Given the description of an element on the screen output the (x, y) to click on. 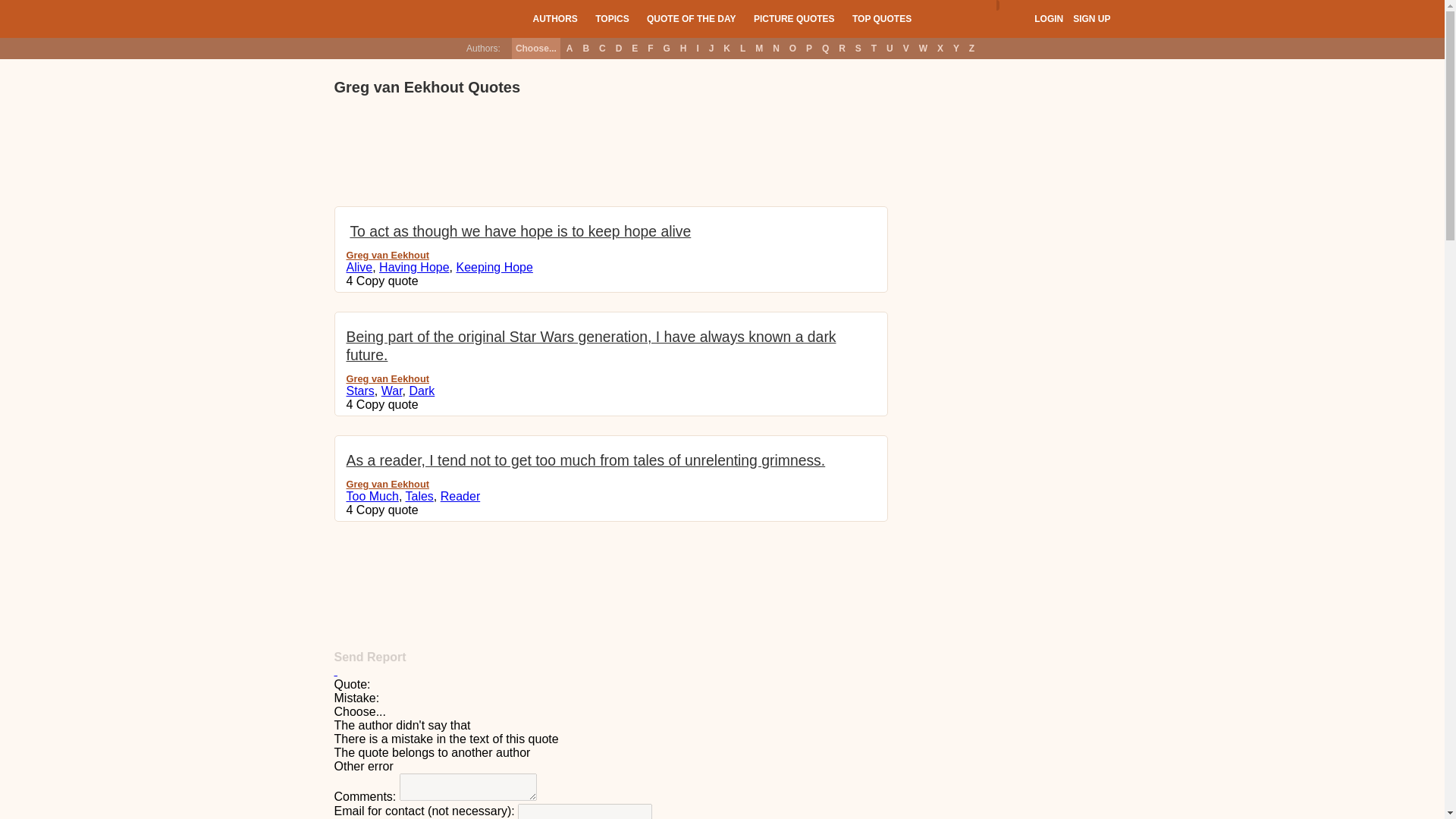
SIGN UP (1091, 18)
D (618, 47)
H (683, 47)
K (726, 47)
B (585, 47)
AUTHORS (554, 18)
A (569, 47)
W (923, 47)
P (808, 47)
F (649, 47)
LOGIN (1047, 18)
PICTURE QUOTES (794, 18)
M (759, 47)
Choose... (536, 47)
